Given the description of an element on the screen output the (x, y) to click on. 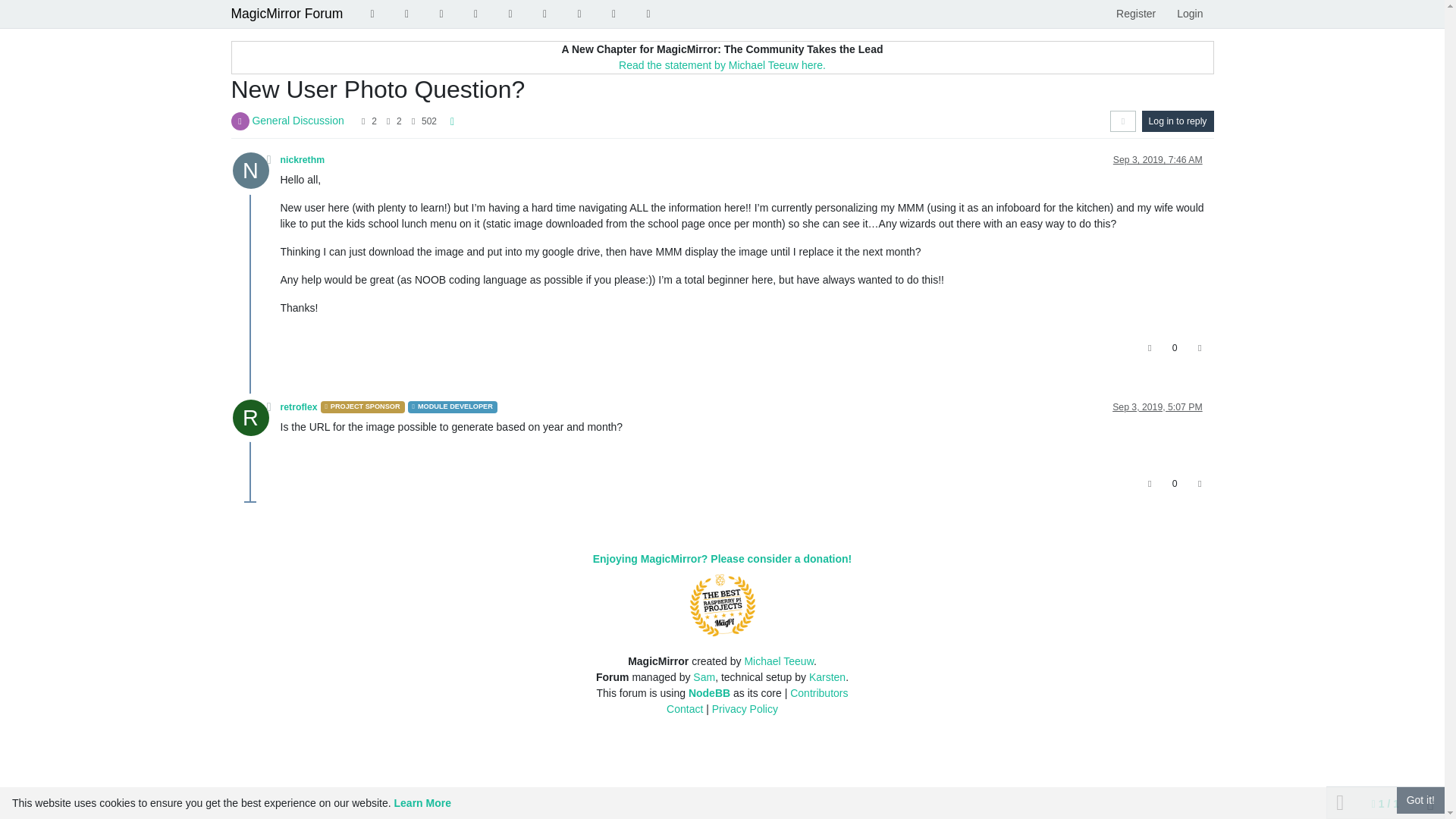
Read the statement by Michael Teeuw here. (721, 64)
Unsolved (440, 13)
Solved (475, 13)
Register (1135, 13)
Login (1189, 13)
N (255, 174)
MagicMirror Forum (286, 13)
Documentation (544, 13)
Join our Discord channel. (647, 13)
Donate (613, 13)
